Given the description of an element on the screen output the (x, y) to click on. 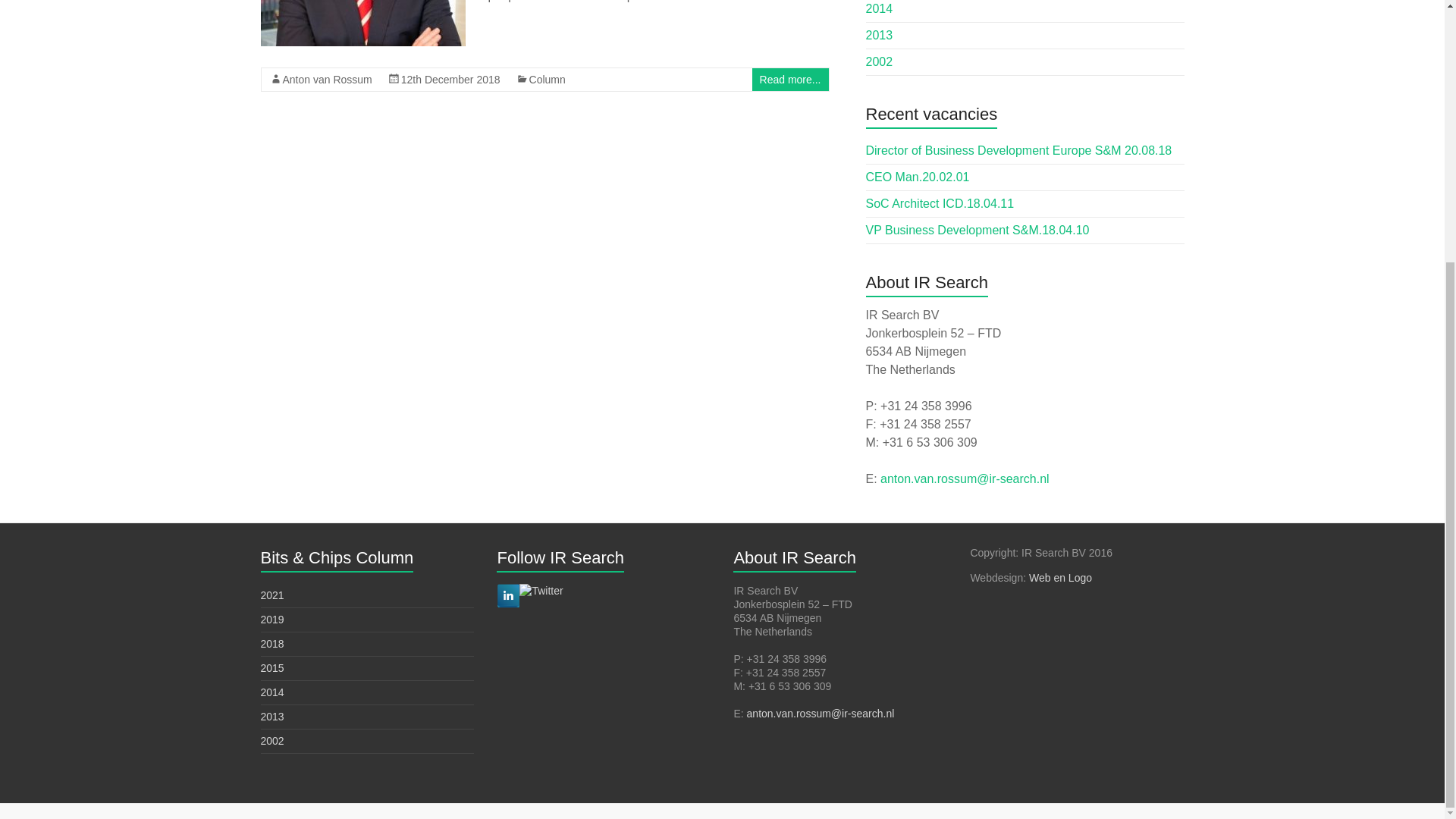
2018 (271, 644)
SoC Architect ICD.18.04.11 (940, 203)
CEO Man.20.02.01 (917, 176)
2013 (271, 716)
2014 (879, 8)
12th December 2018 (450, 79)
Read more... (790, 79)
2013 (879, 34)
2015 (271, 667)
2:14 pm (450, 79)
2002 (879, 61)
2021 (271, 594)
Column (547, 79)
2014 (271, 692)
Anton van Rossum (326, 79)
